Given the description of an element on the screen output the (x, y) to click on. 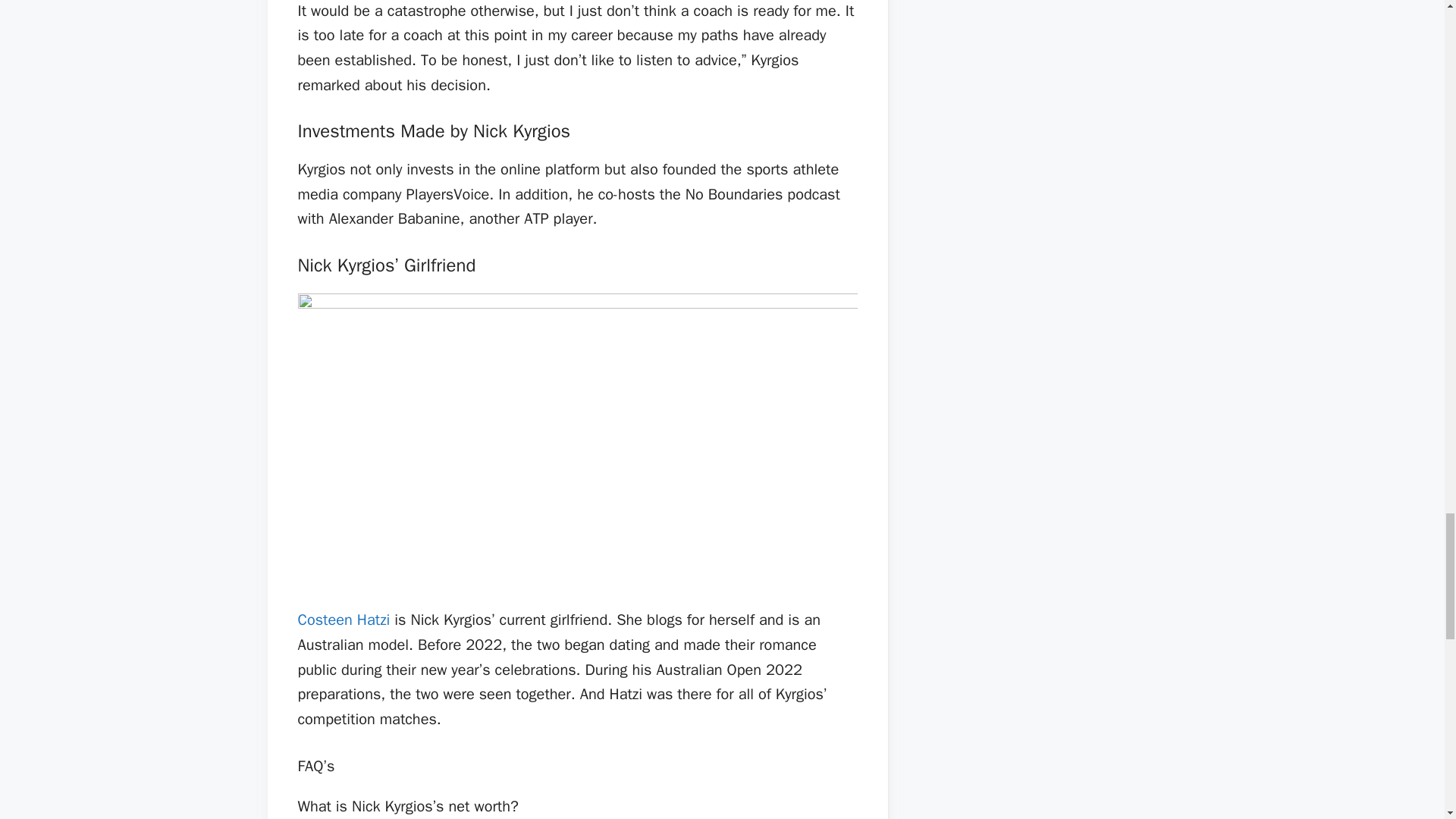
Costeen Hatzi (343, 619)
